Given the description of an element on the screen output the (x, y) to click on. 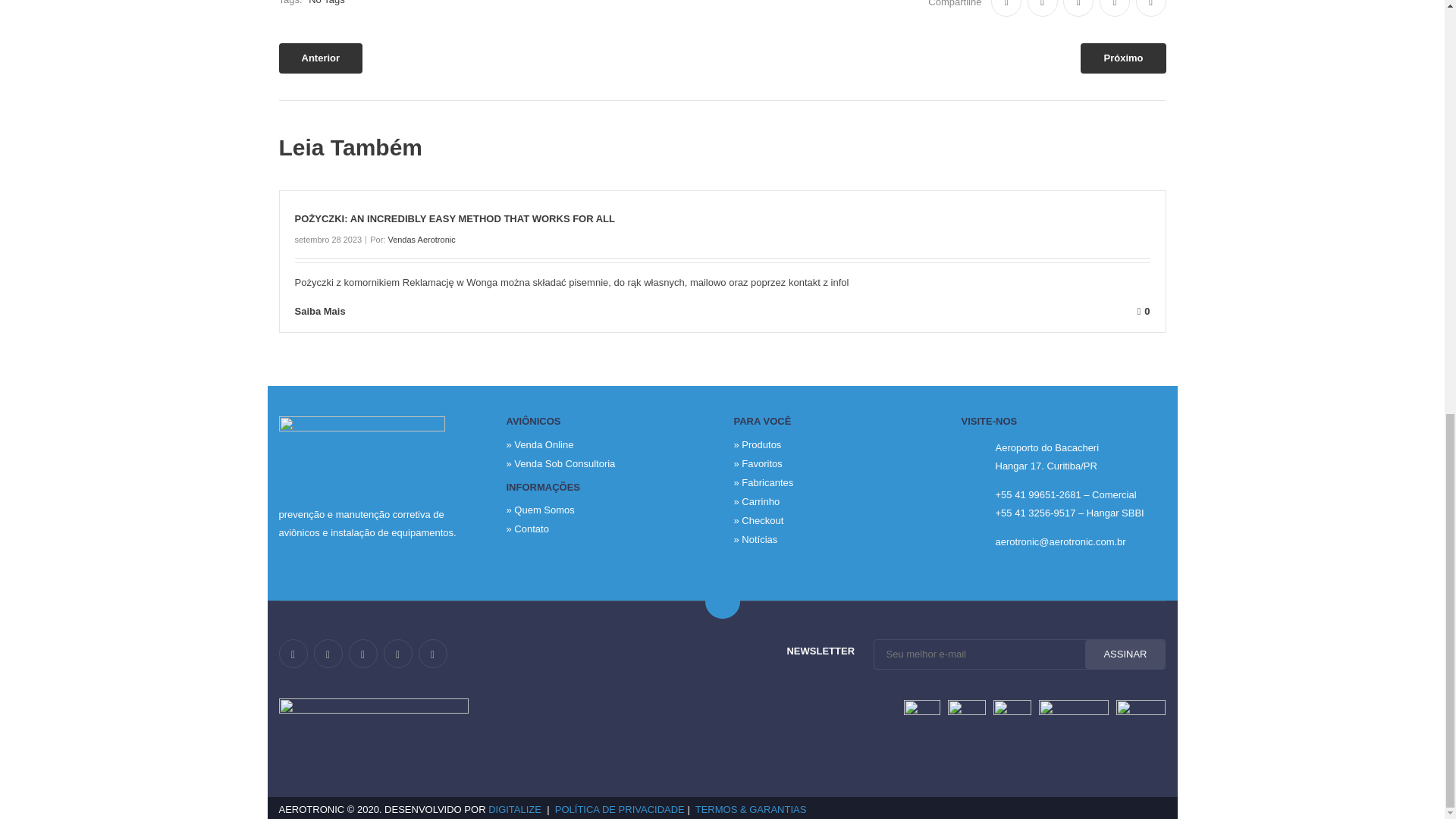
Saiba Mais (331, 310)
Anterior (320, 58)
0 (759, 310)
ASSINAR (1124, 654)
Vendas Aerotronic (420, 239)
